Given the description of an element on the screen output the (x, y) to click on. 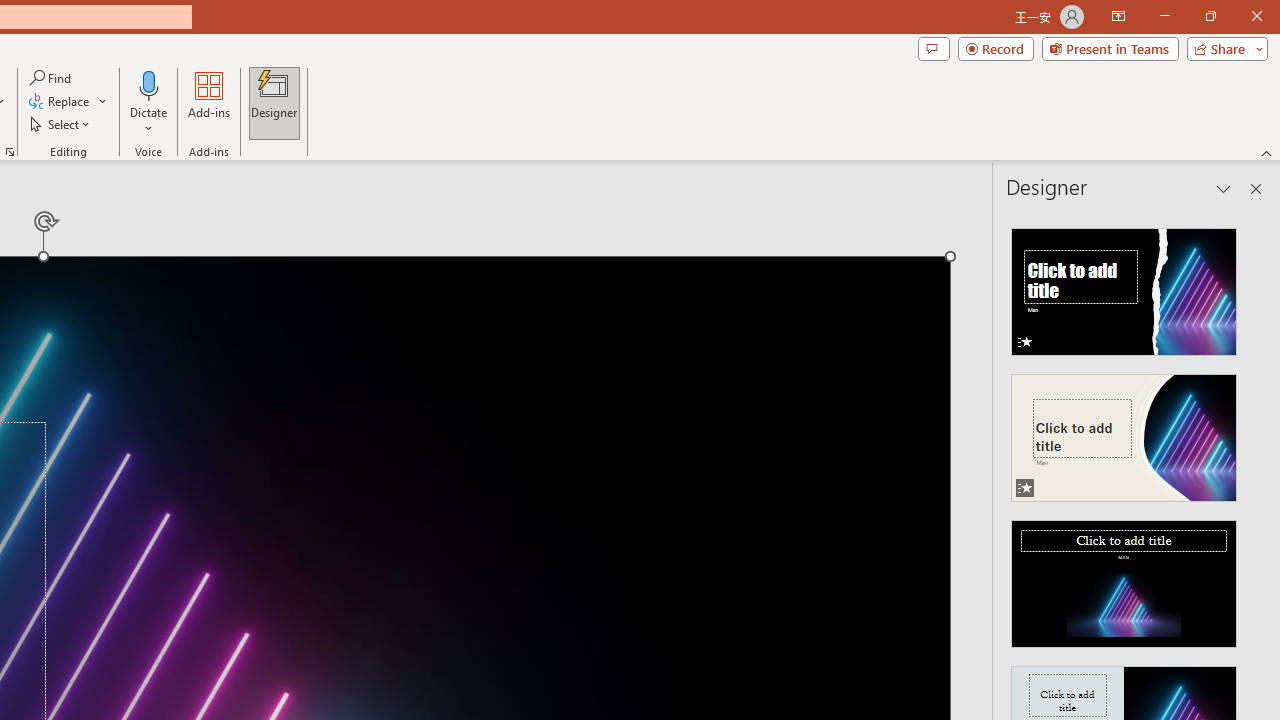
Design Idea with Animation (1124, 431)
